Given the description of an element on the screen output the (x, y) to click on. 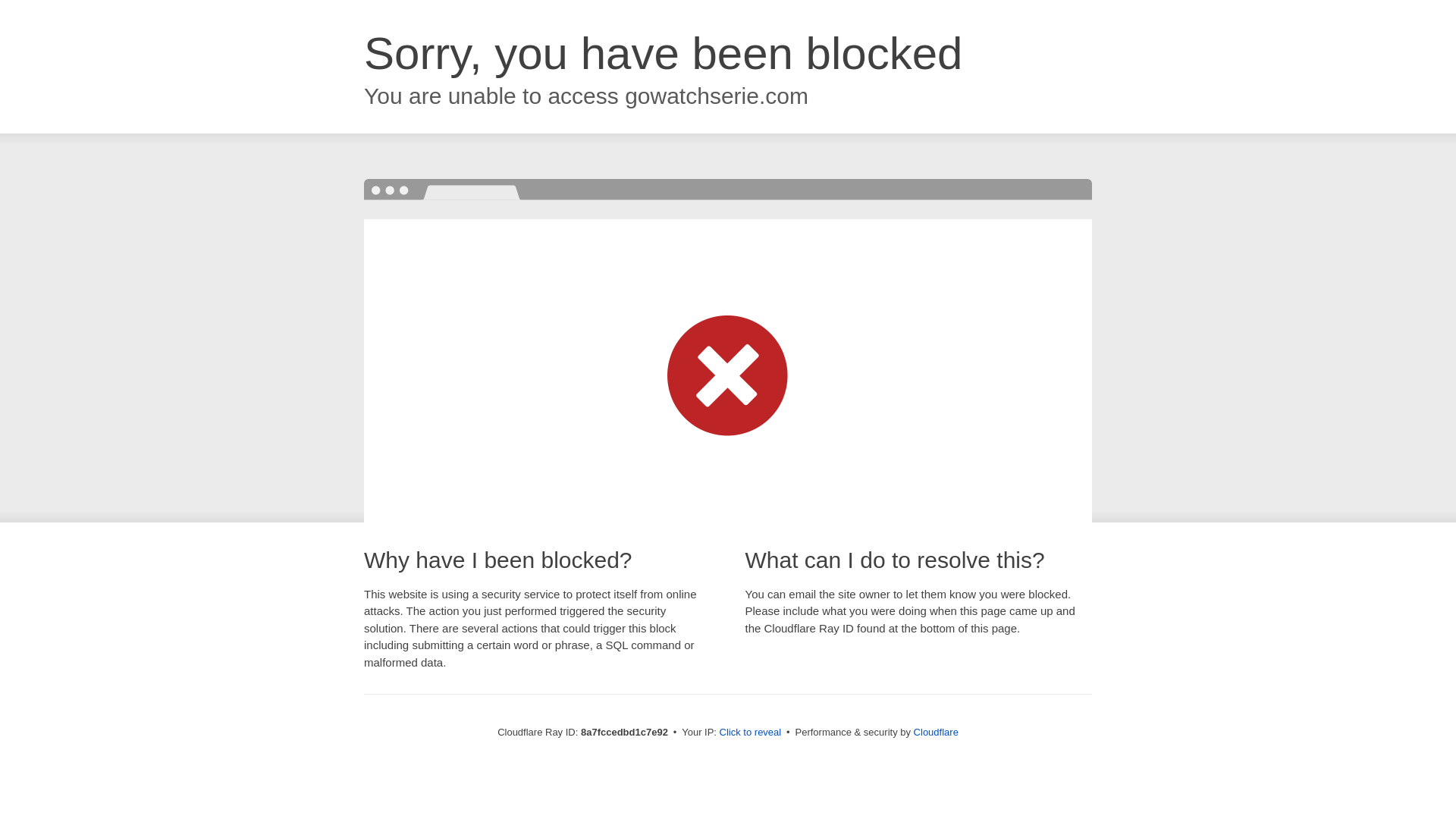
Click to reveal (750, 732)
Cloudflare (936, 731)
